Given the description of an element on the screen output the (x, y) to click on. 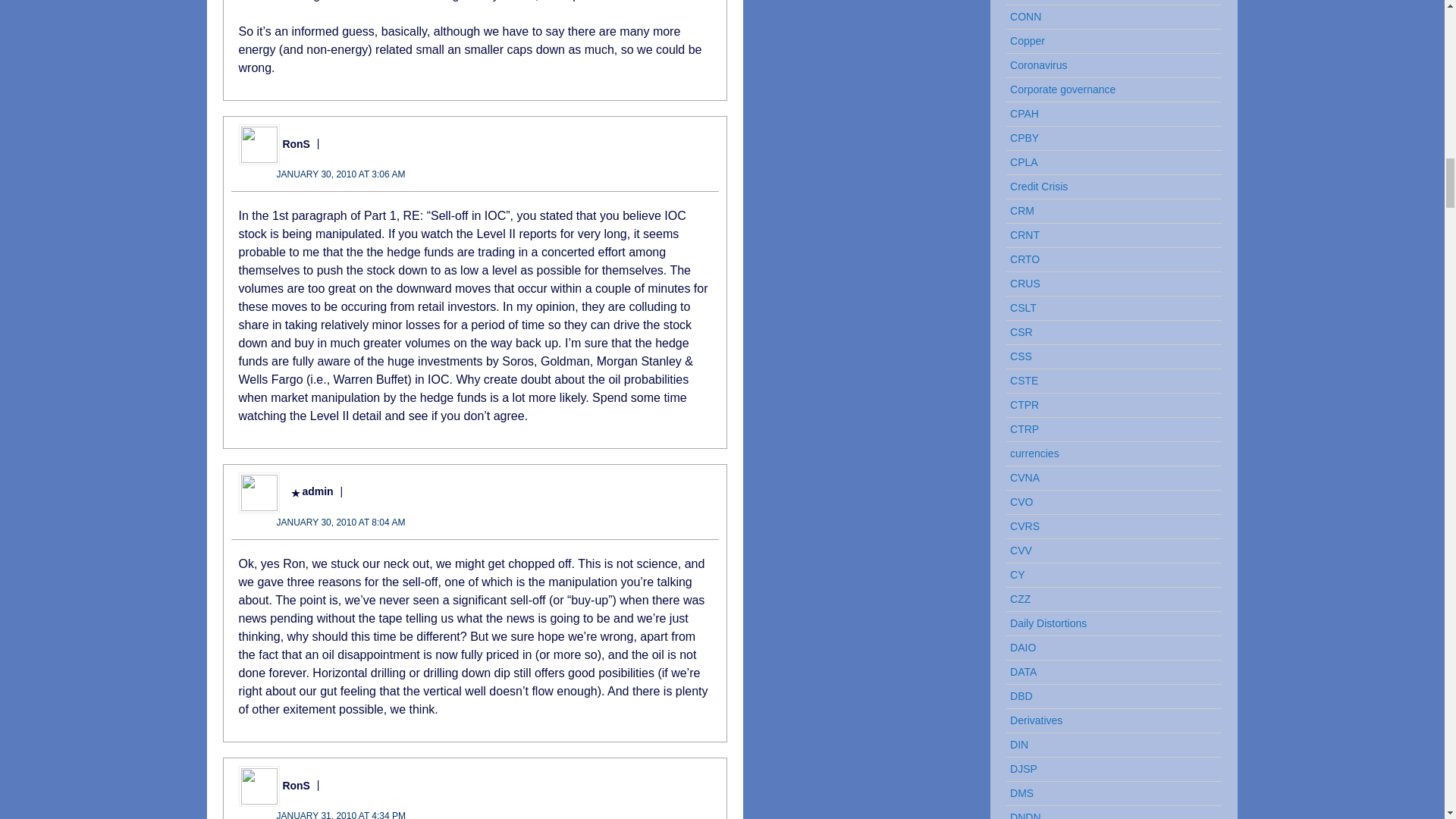
JANUARY 30, 2010 AT 3:06 AM (340, 173)
JANUARY 31, 2010 AT 4:34 PM (341, 814)
JANUARY 30, 2010 AT 8:04 AM (340, 521)
